Given the description of an element on the screen output the (x, y) to click on. 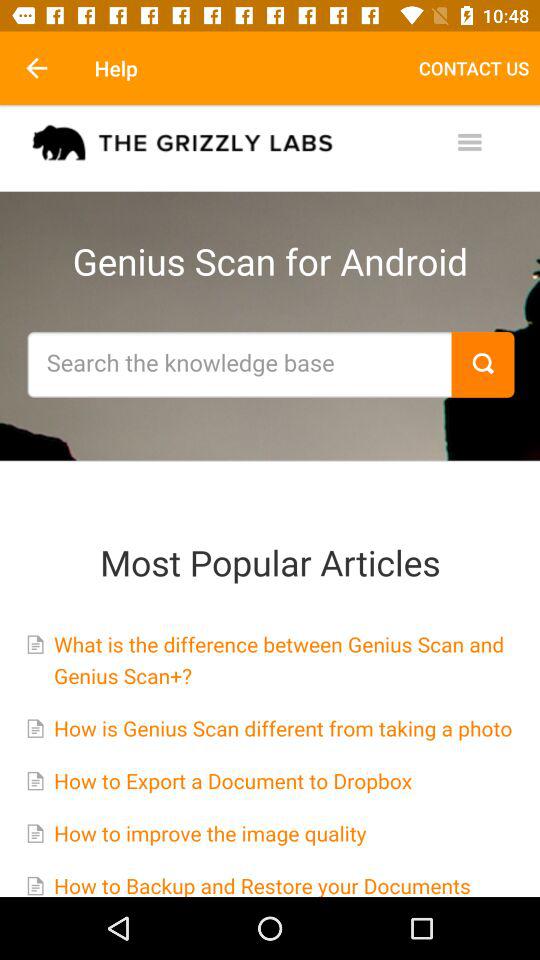
launch item to the right of the help item (474, 67)
